Given the description of an element on the screen output the (x, y) to click on. 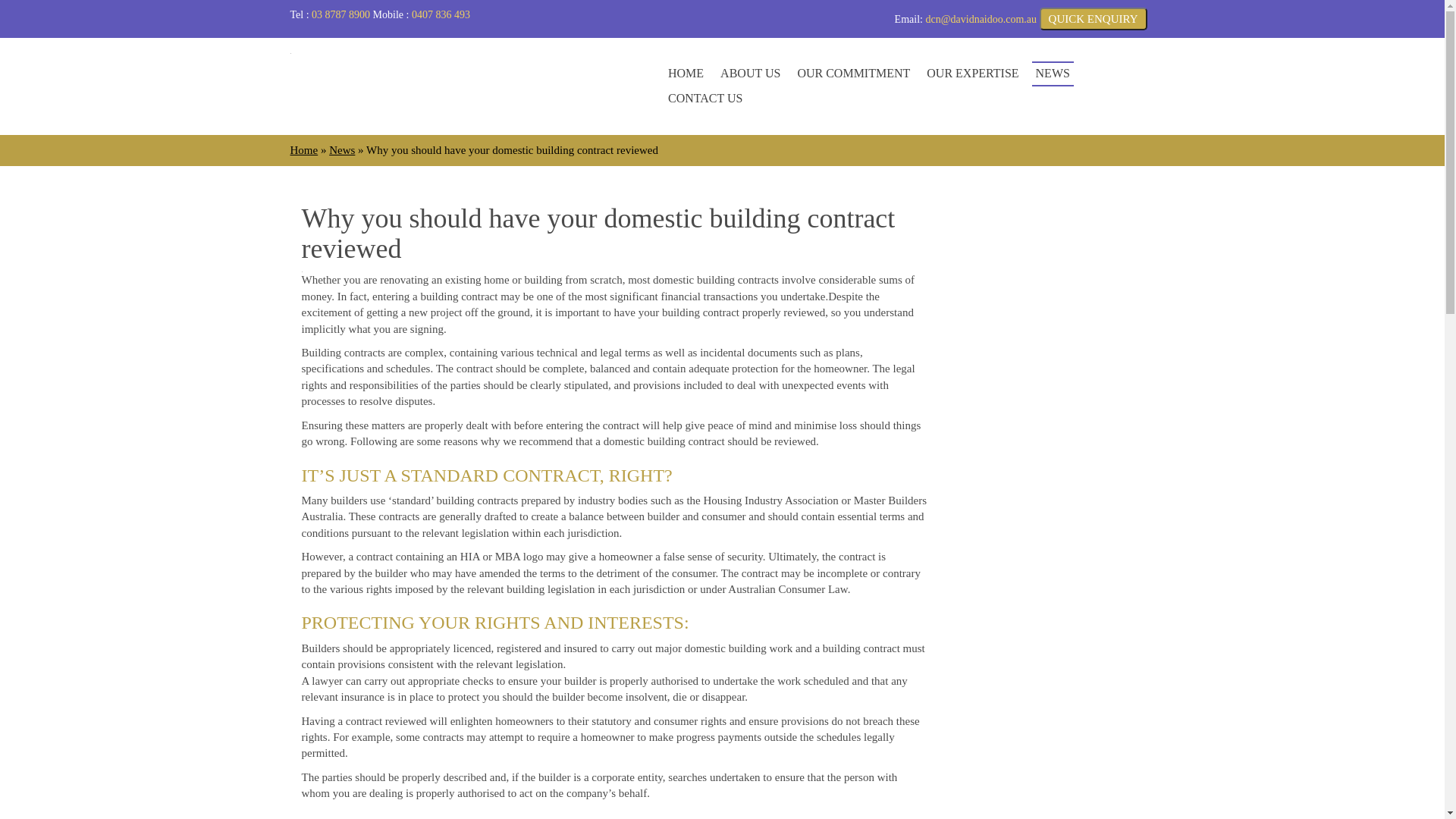
Send Request Element type: text (722, 330)
CONTACT US Element type: text (705, 98)
News Element type: text (341, 150)
dcn@davidnaidoo.com.au Element type: text (980, 19)
0407 836 493 Element type: text (440, 14)
Home Element type: text (303, 150)
03 8787 8900 Element type: text (340, 14)
OUR EXPERTISE Element type: text (972, 73)
QUICK ENQUIRY Element type: text (1093, 18)
NEWS Element type: text (1052, 73)
HOME Element type: text (685, 73)
OUR COMMITMENT Element type: text (853, 73)
ABOUT US Element type: text (750, 73)
